Given the description of an element on the screen output the (x, y) to click on. 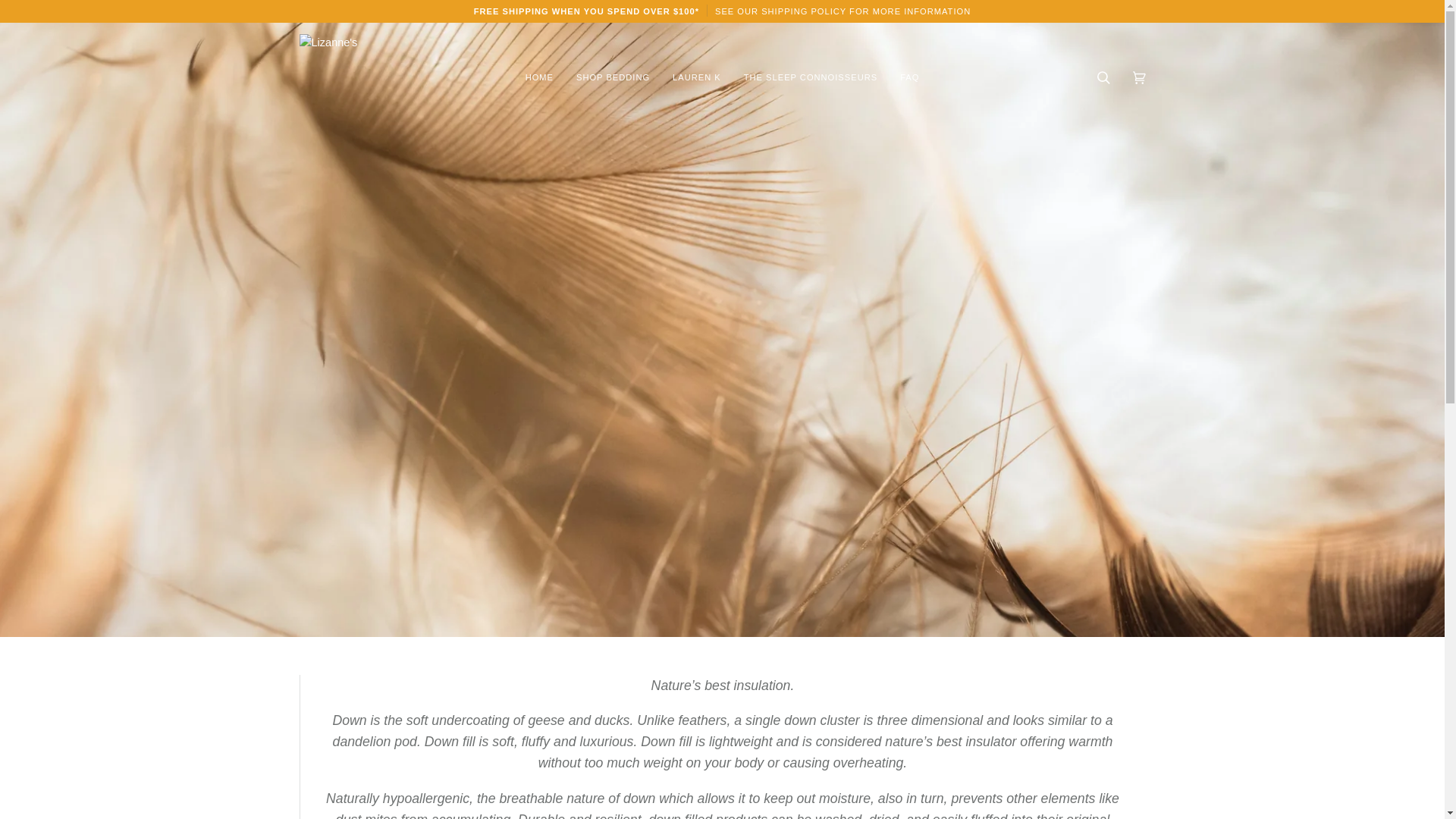
THE SLEEP CONNOISSEURS (810, 77)
